Given the description of an element on the screen output the (x, y) to click on. 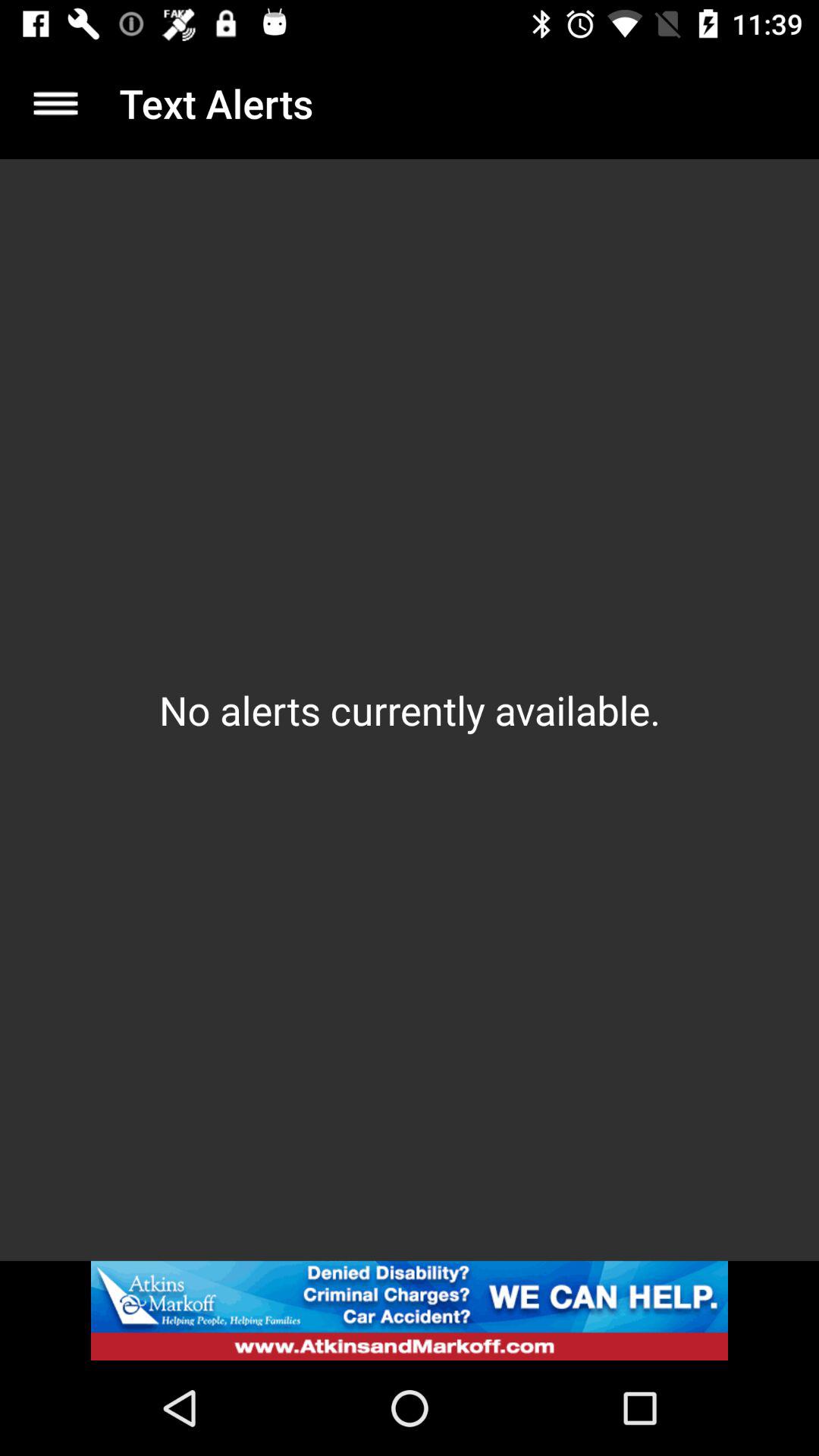
click advertisement (409, 1310)
